Given the description of an element on the screen output the (x, y) to click on. 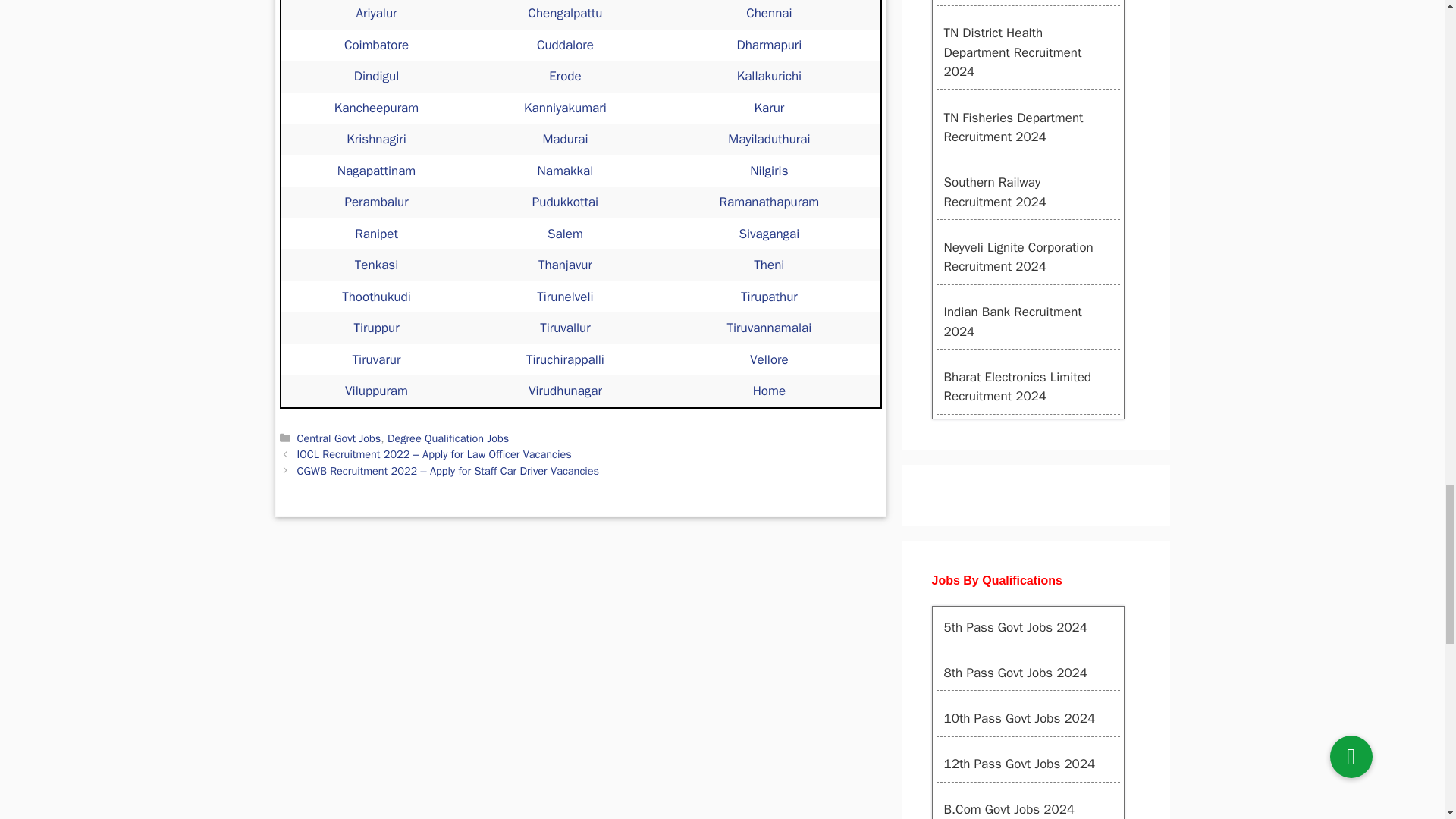
Perambalur (375, 201)
Kallakurichi (769, 75)
Cuddalore (565, 44)
Ramanathapuram (769, 201)
Ariyalur (376, 12)
Mayiladuthurai (768, 139)
Nilgiris (768, 170)
Erode (564, 75)
Coimbatore (376, 44)
Krishnagiri (376, 139)
Namakkal (565, 170)
Madurai (564, 139)
Dharmapuri (769, 44)
Nagapattinam (376, 170)
Kancheepuram (376, 107)
